Given the description of an element on the screen output the (x, y) to click on. 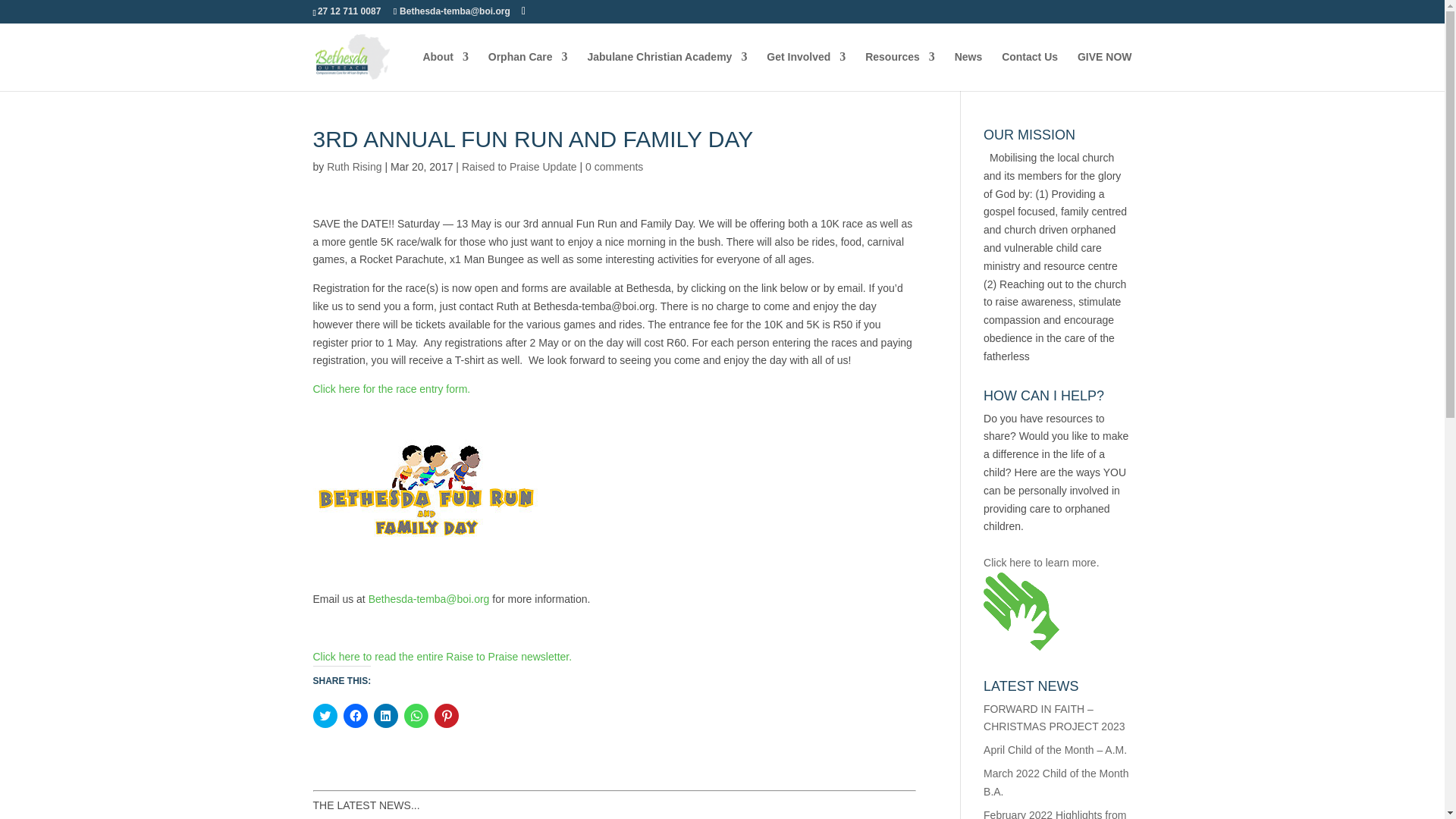
About (444, 70)
Click here to read the entire Raise to Praise newsletter. (442, 656)
GIVE NOW (1104, 70)
Click to share on Facebook (354, 715)
Click to share on Pinterest (445, 715)
Click to share on Twitter (324, 715)
Click here for the race entry form. (391, 388)
Posts by Ruth Rising (353, 166)
Click to share on WhatsApp (415, 715)
Resources (899, 70)
